Given the description of an element on the screen output the (x, y) to click on. 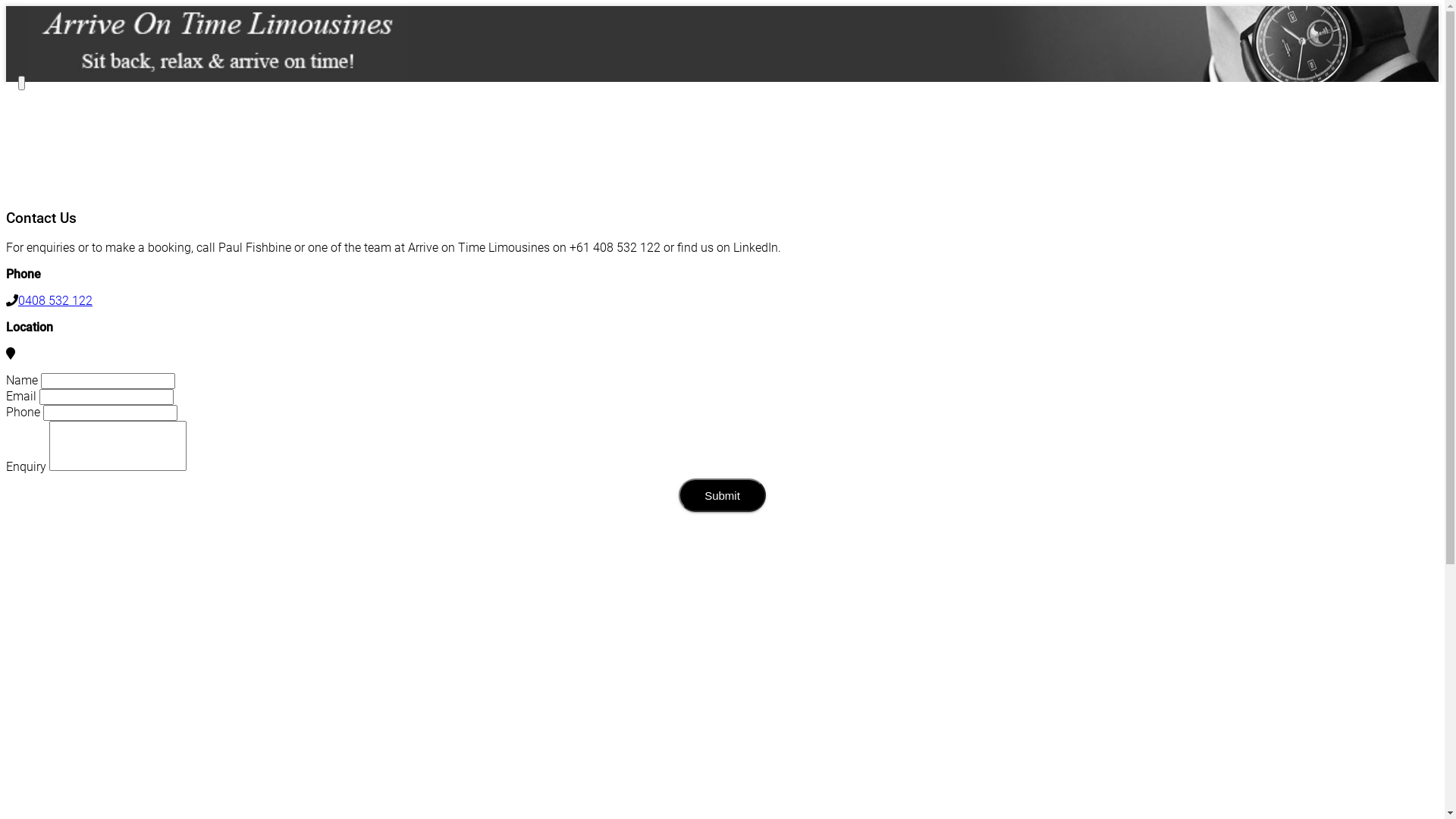
Services Element type: text (658, 119)
Testimonials Element type: text (658, 148)
Submit Element type: text (721, 494)
Fleet Element type: text (658, 133)
Home Element type: text (658, 104)
Contact Us Element type: text (658, 162)
0408 532 122 Element type: text (55, 300)
